Given the description of an element on the screen output the (x, y) to click on. 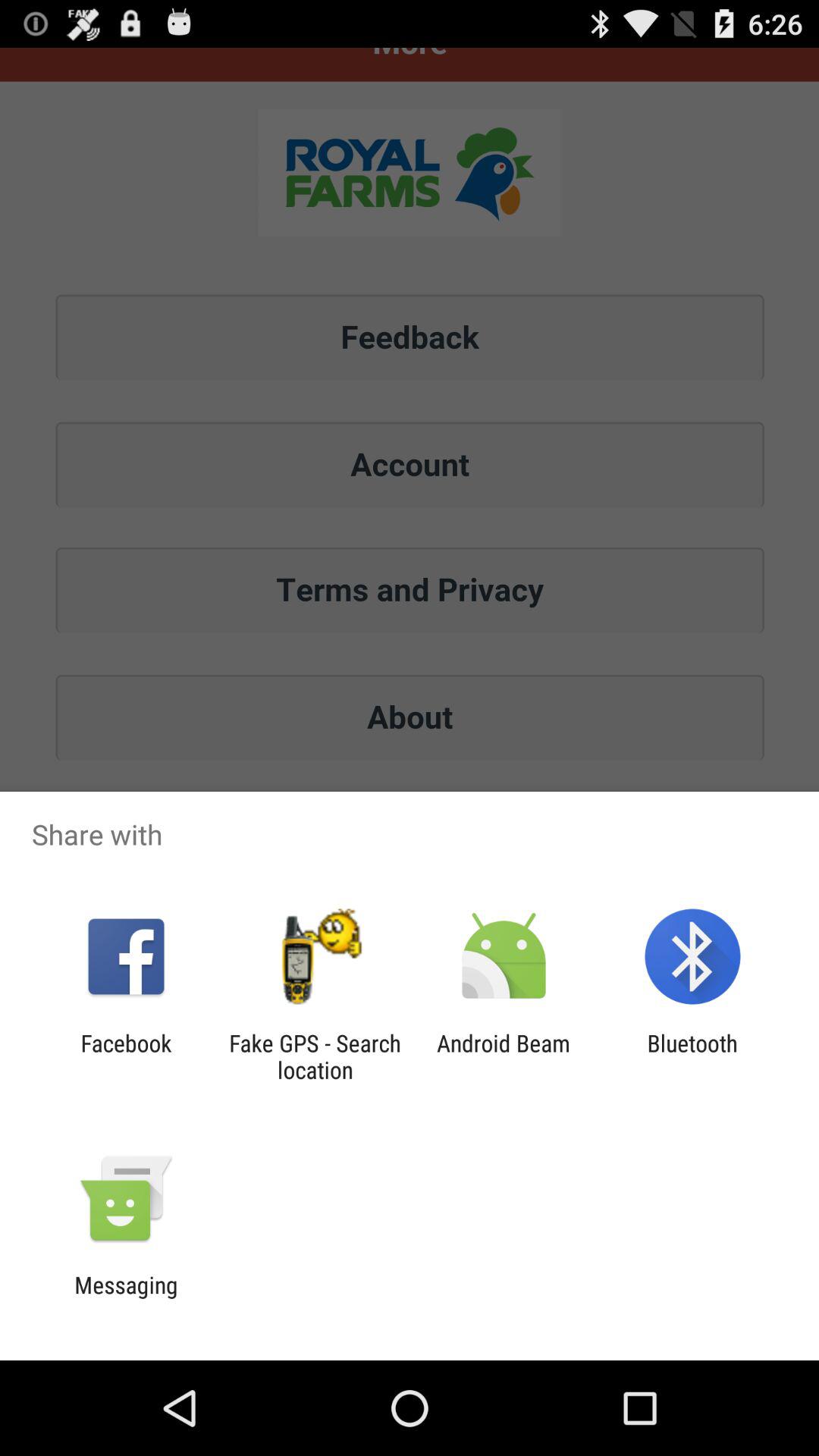
press the messaging app (126, 1298)
